Given the description of an element on the screen output the (x, y) to click on. 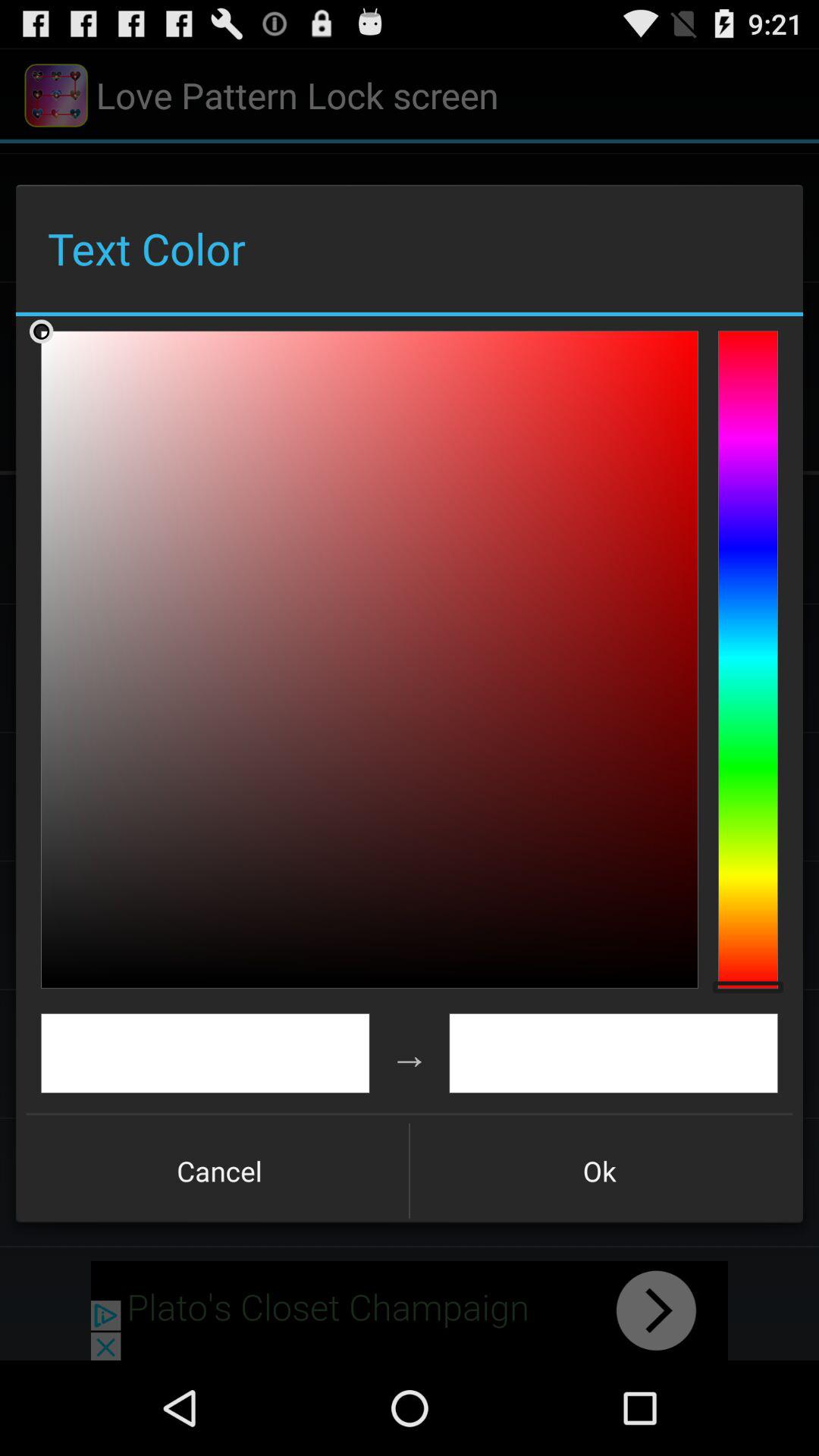
select the item to the right of cancel (599, 1170)
